Given the description of an element on the screen output the (x, y) to click on. 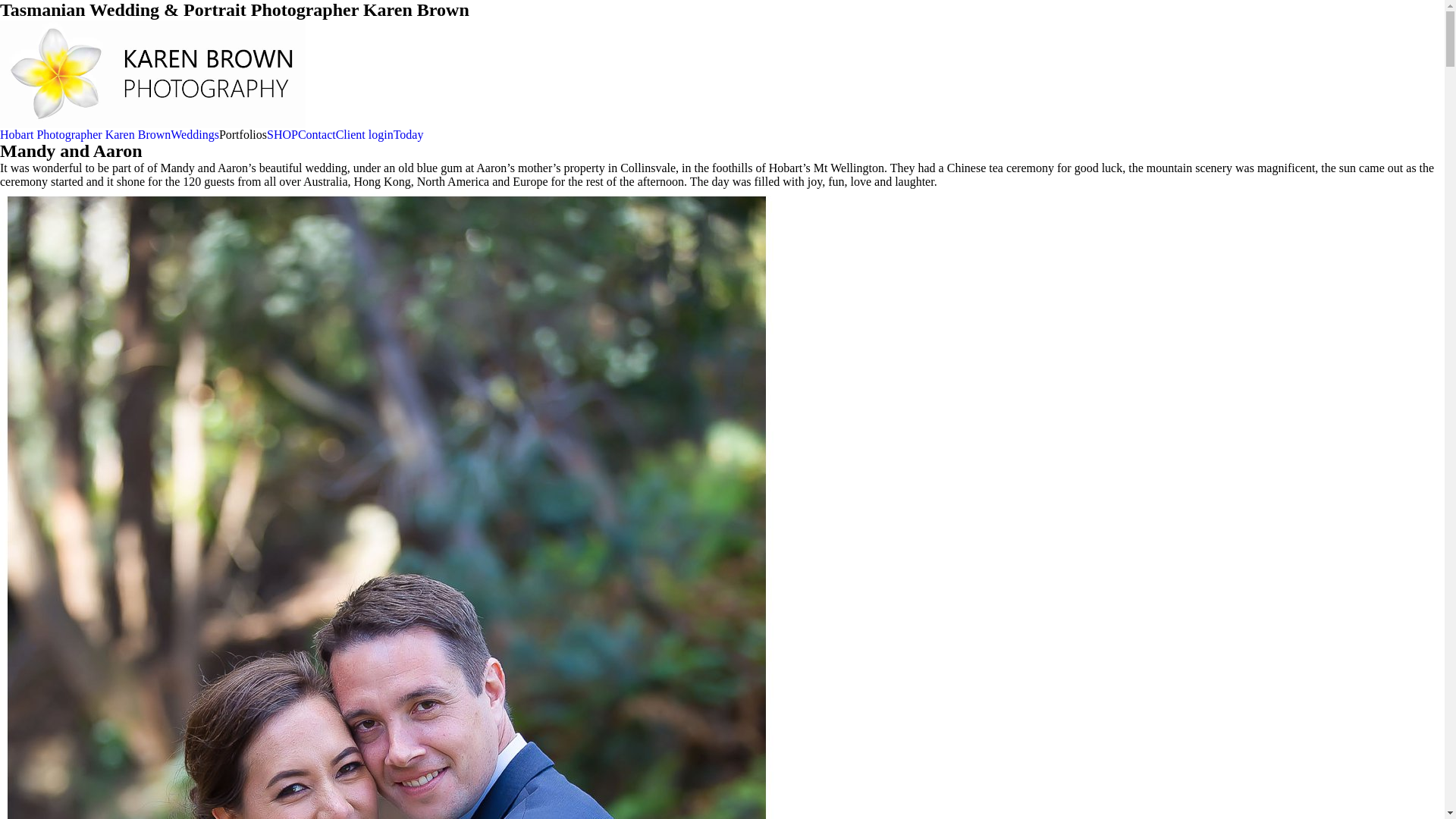
Weddings Element type: text (194, 133)
Today Element type: text (408, 133)
Hobart Photographer Karen Brown Element type: text (85, 133)
Client login Element type: text (364, 133)
Contact Element type: text (316, 133)
SHOP Element type: text (282, 133)
